Given the description of an element on the screen output the (x, y) to click on. 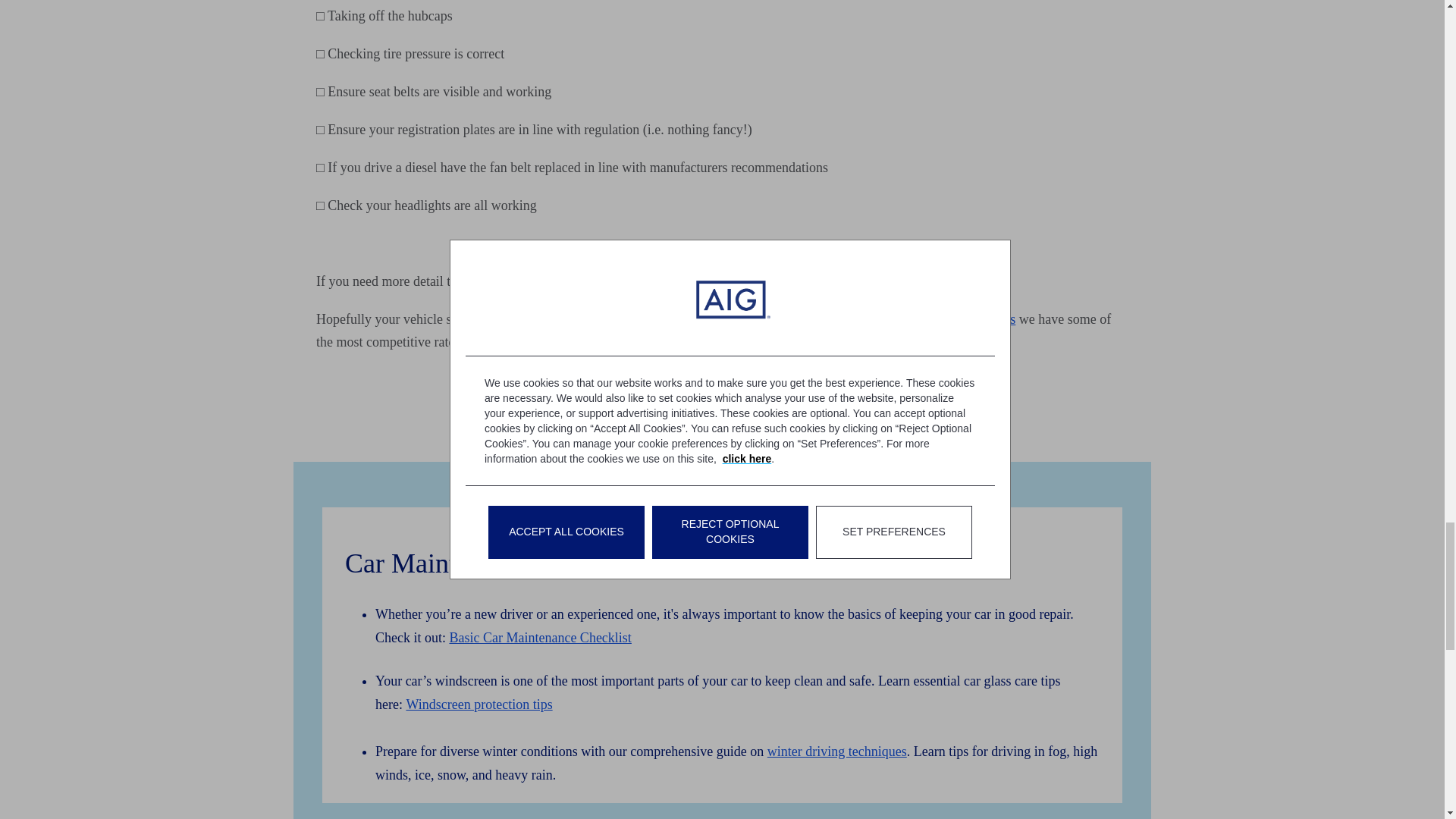
AIG Car Insurance (987, 319)
Share Using Mail (763, 421)
NCT (613, 281)
